Given the description of an element on the screen output the (x, y) to click on. 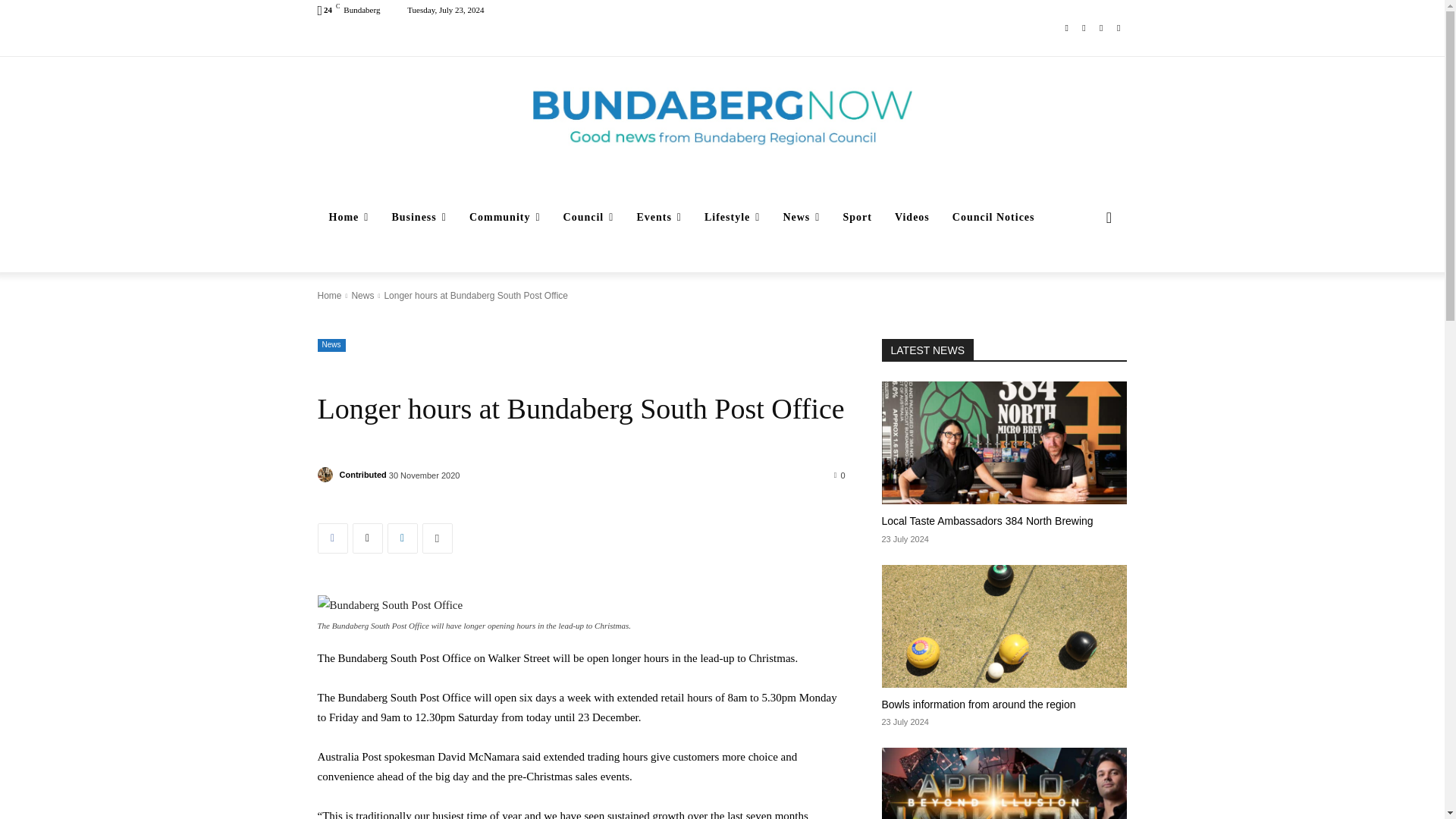
Youtube (1117, 27)
Instagram (1084, 27)
Bundaberg Now (721, 117)
Home (348, 217)
Contributed (326, 474)
Facebook (1066, 27)
Bundaberg Now (721, 117)
Twitter (1101, 27)
View all posts in News (362, 295)
